Given the description of an element on the screen output the (x, y) to click on. 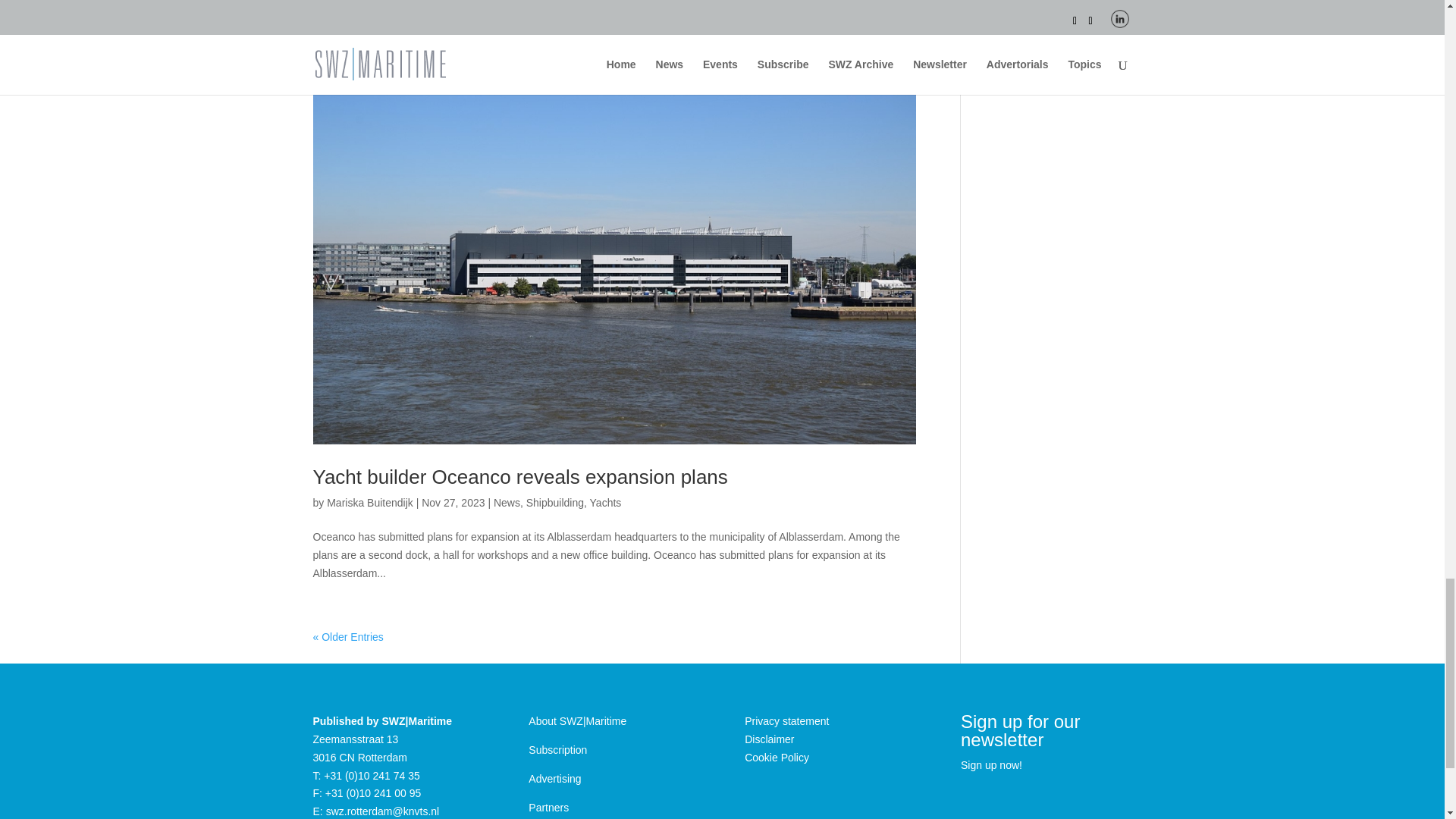
Posts by Mariska Buitendijk (369, 502)
Advertising (554, 778)
Subscription (557, 749)
Partners (548, 807)
